Given the description of an element on the screen output the (x, y) to click on. 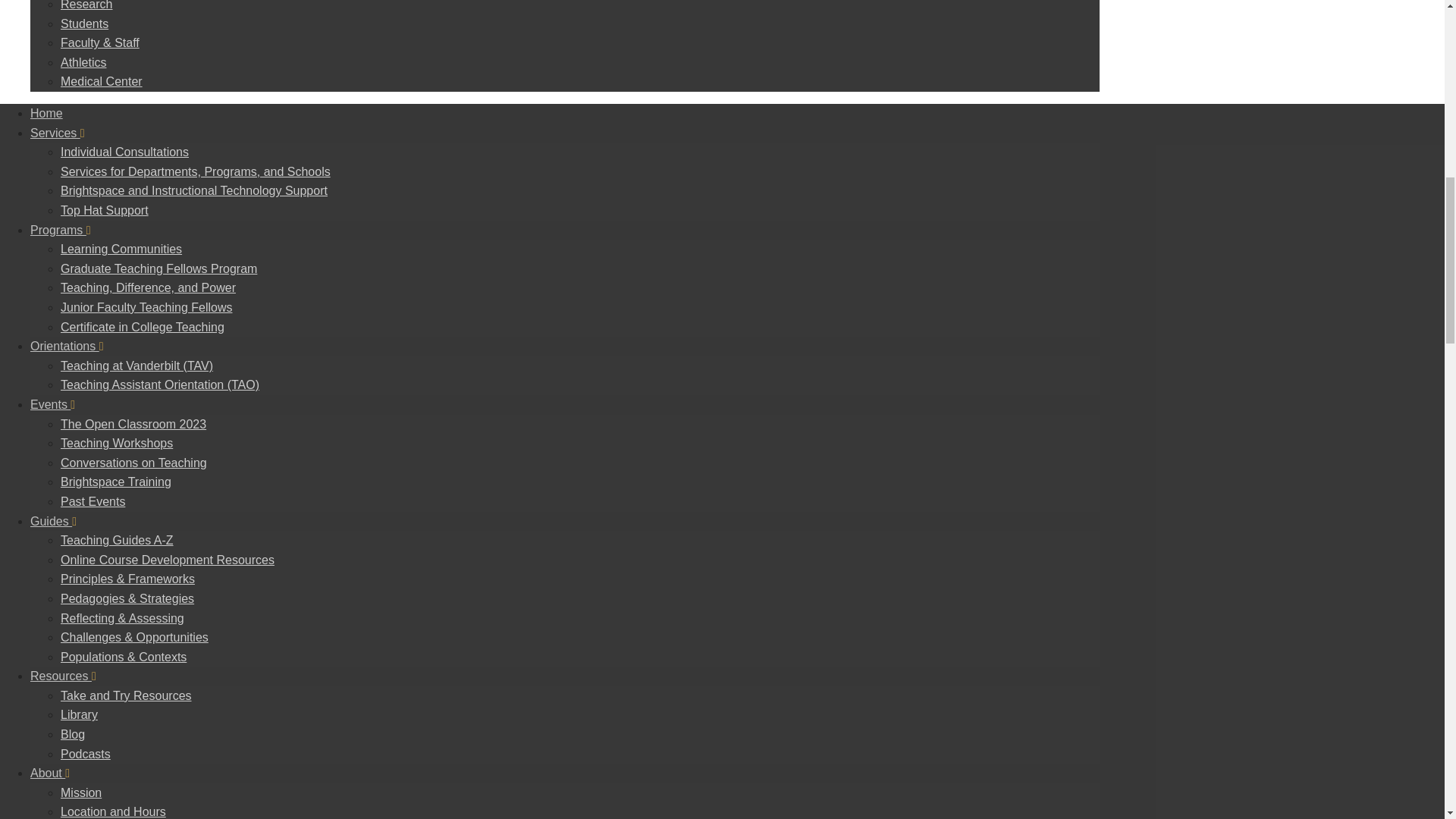
Services for Departments, Programs, and Schools (195, 171)
Home (46, 113)
Top Hat Support (104, 210)
Brightspace and Instructional Technology Support (194, 190)
Research (86, 5)
Medical Center (101, 81)
Services (57, 132)
Individual Consultations (125, 151)
Athletics (83, 62)
Students (84, 23)
